Given the description of an element on the screen output the (x, y) to click on. 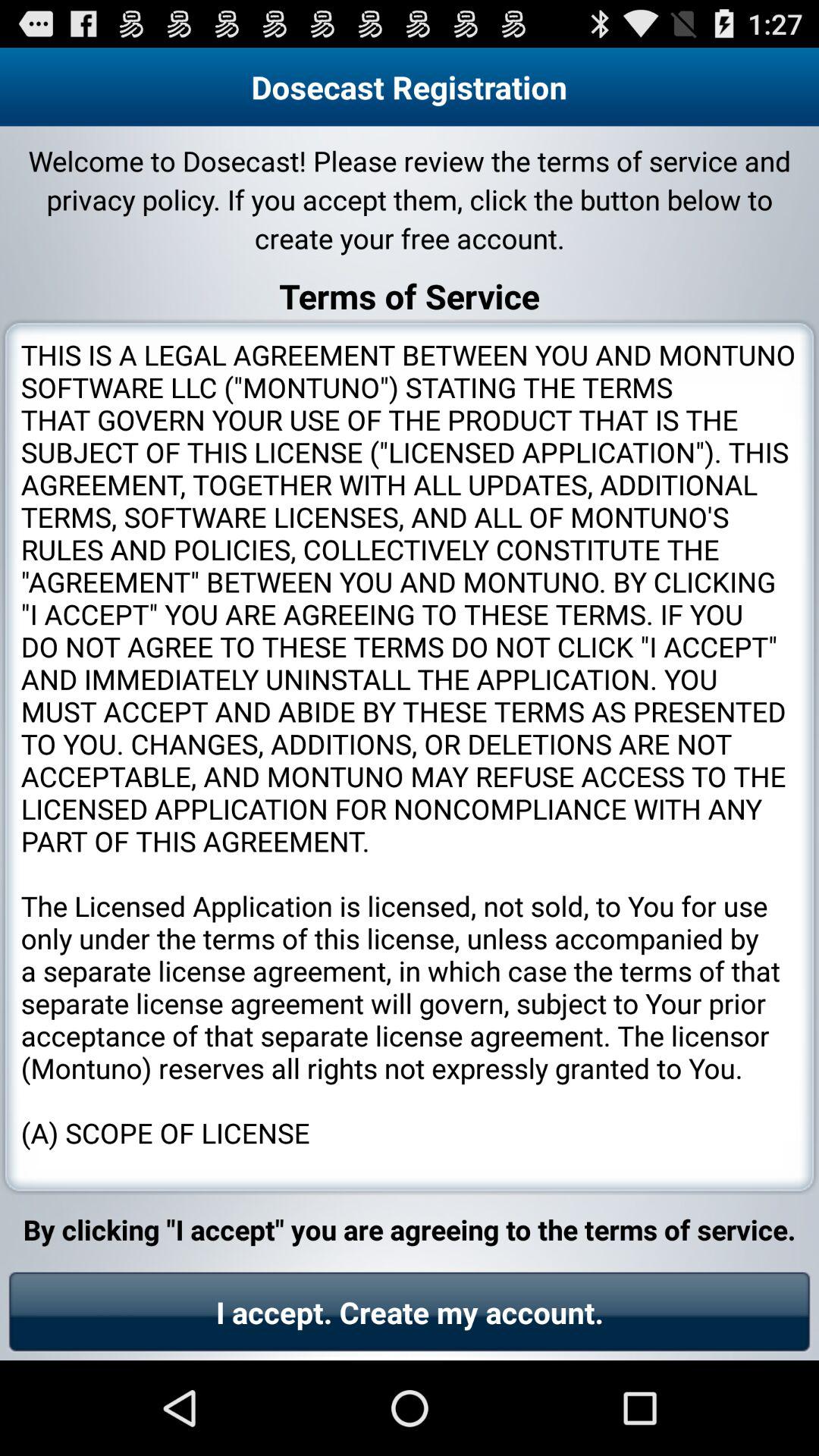
open this is a at the center (409, 756)
